Given the description of an element on the screen output the (x, y) to click on. 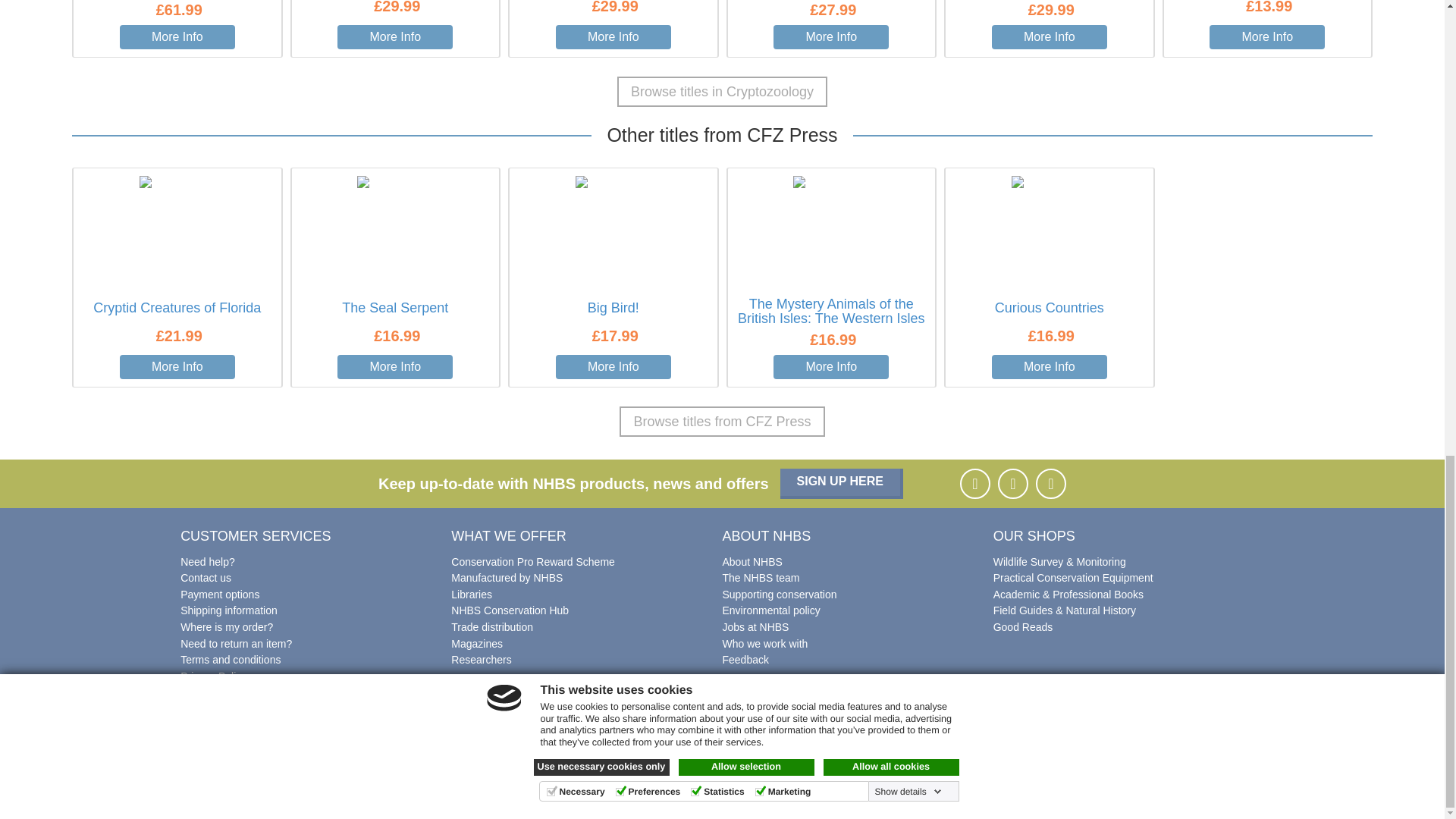
Sign up here (841, 483)
